Given the description of an element on the screen output the (x, y) to click on. 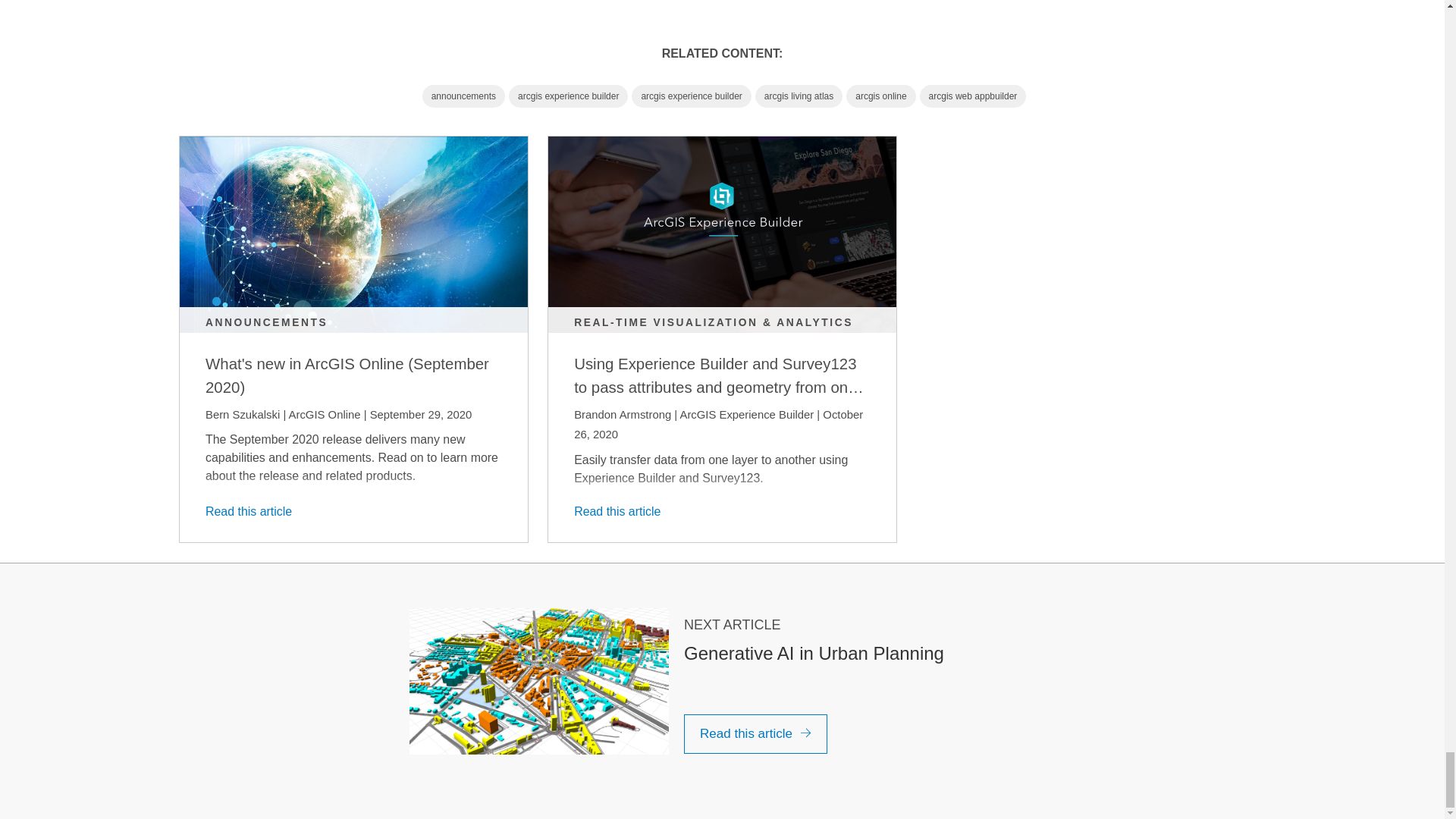
arcgis experience builder (567, 96)
announcements (463, 96)
arcgis experience builder (691, 96)
